Given the description of an element on the screen output the (x, y) to click on. 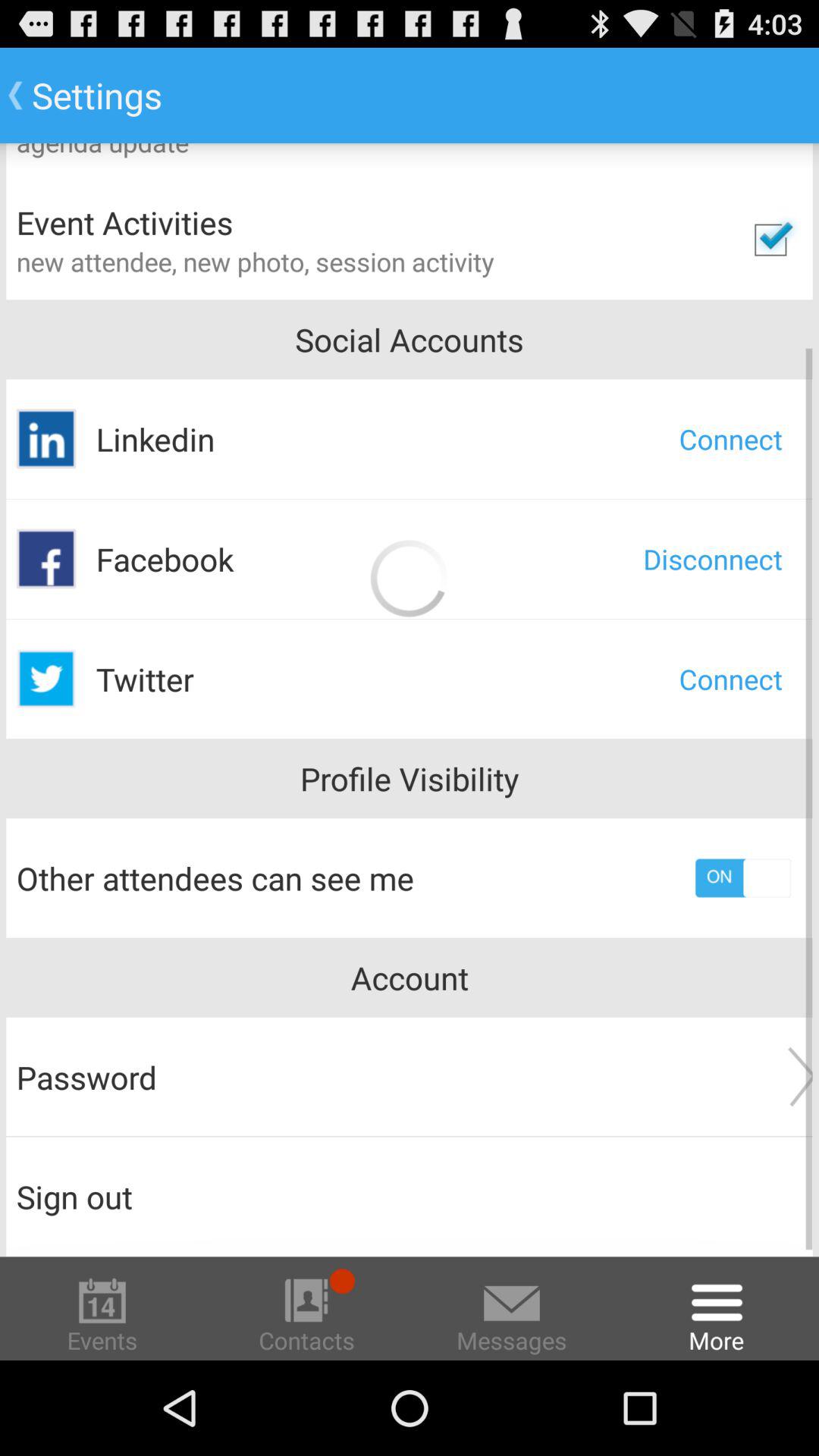
click the sign out icon (409, 1196)
